Given the description of an element on the screen output the (x, y) to click on. 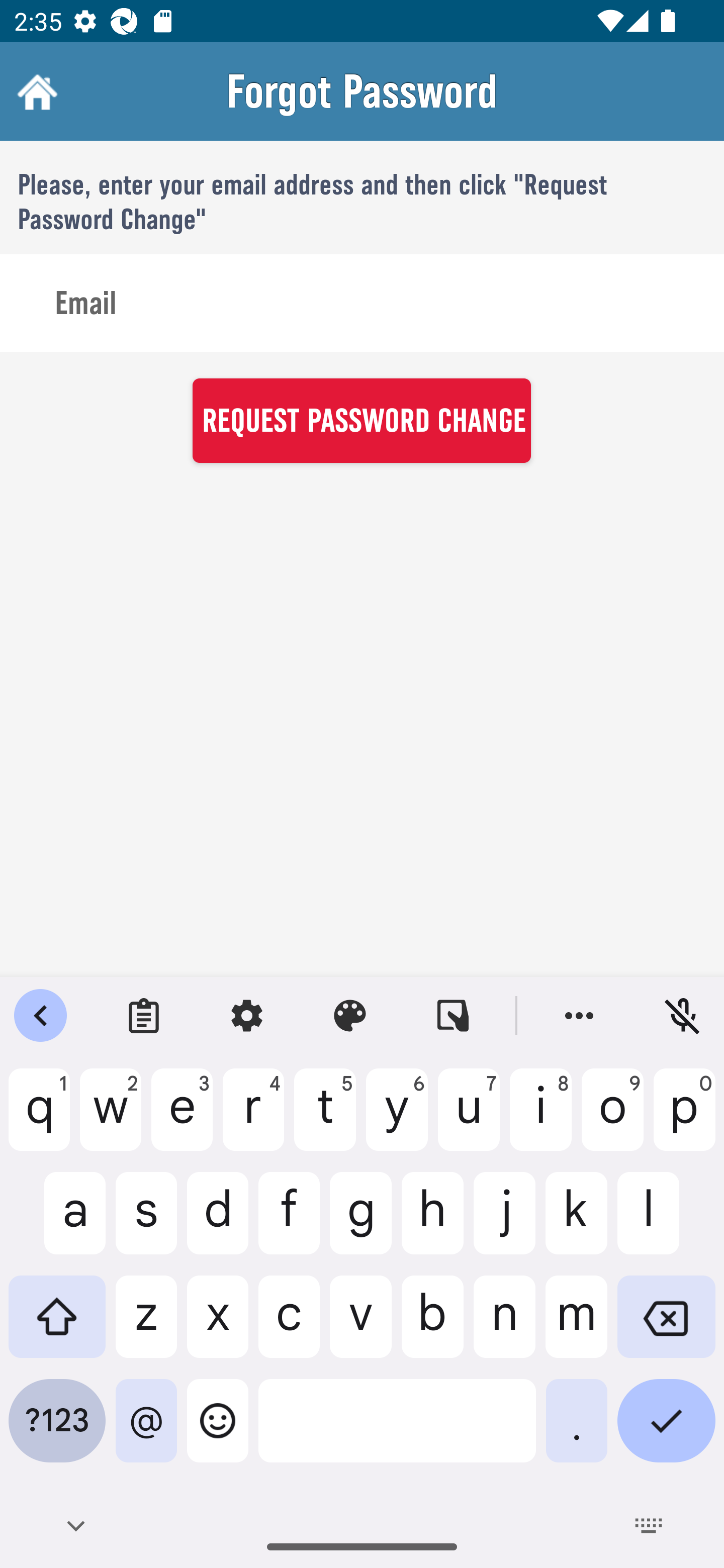
Home (35, 91)
Email (361, 303)
REQUEST PASSWORD CHANGE (361, 419)
